Given the description of an element on the screen output the (x, y) to click on. 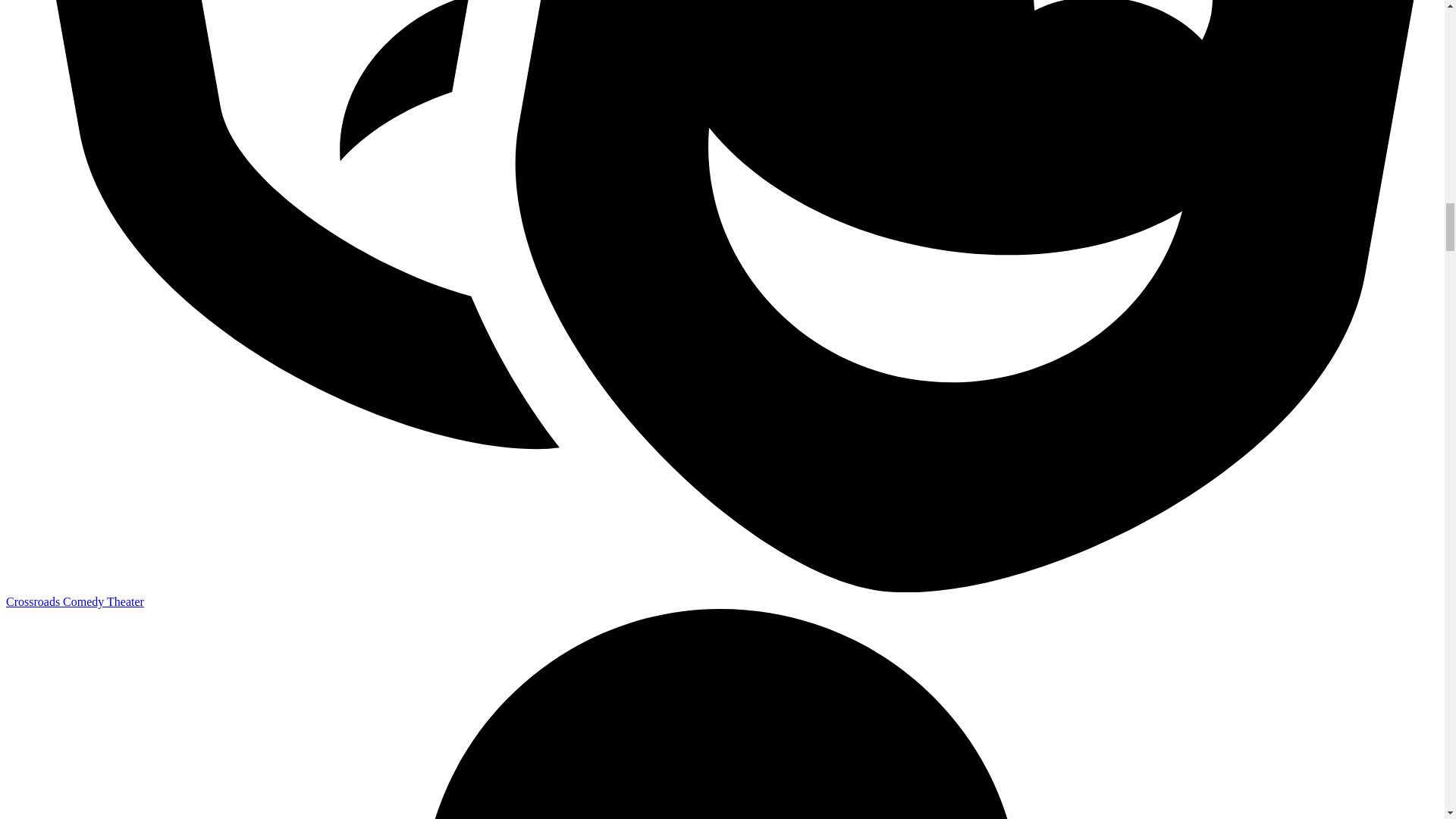
Crossroads Comedy Theater (74, 601)
